Given the description of an element on the screen output the (x, y) to click on. 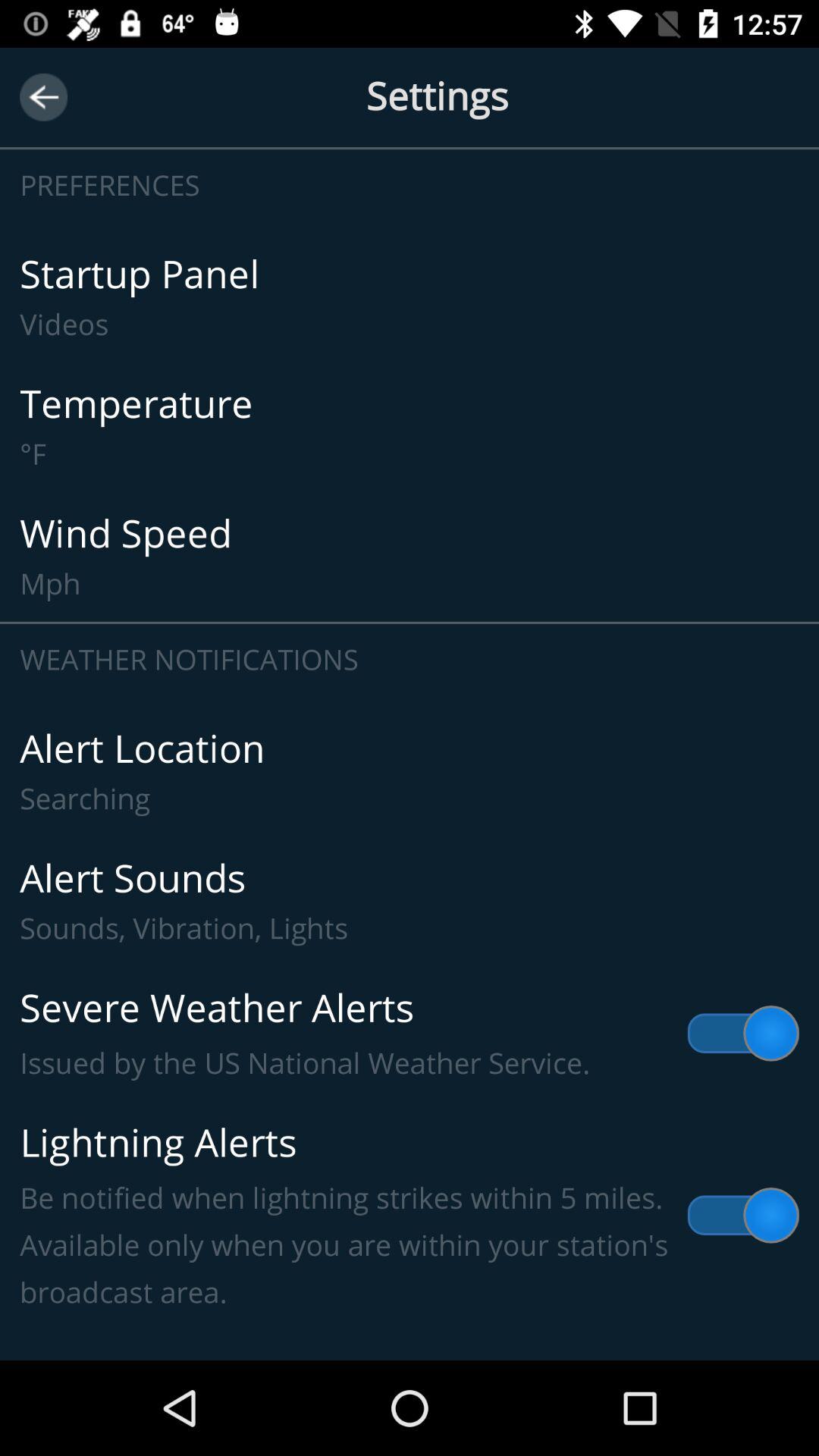
press item above severe weather alerts item (409, 901)
